Given the description of an element on the screen output the (x, y) to click on. 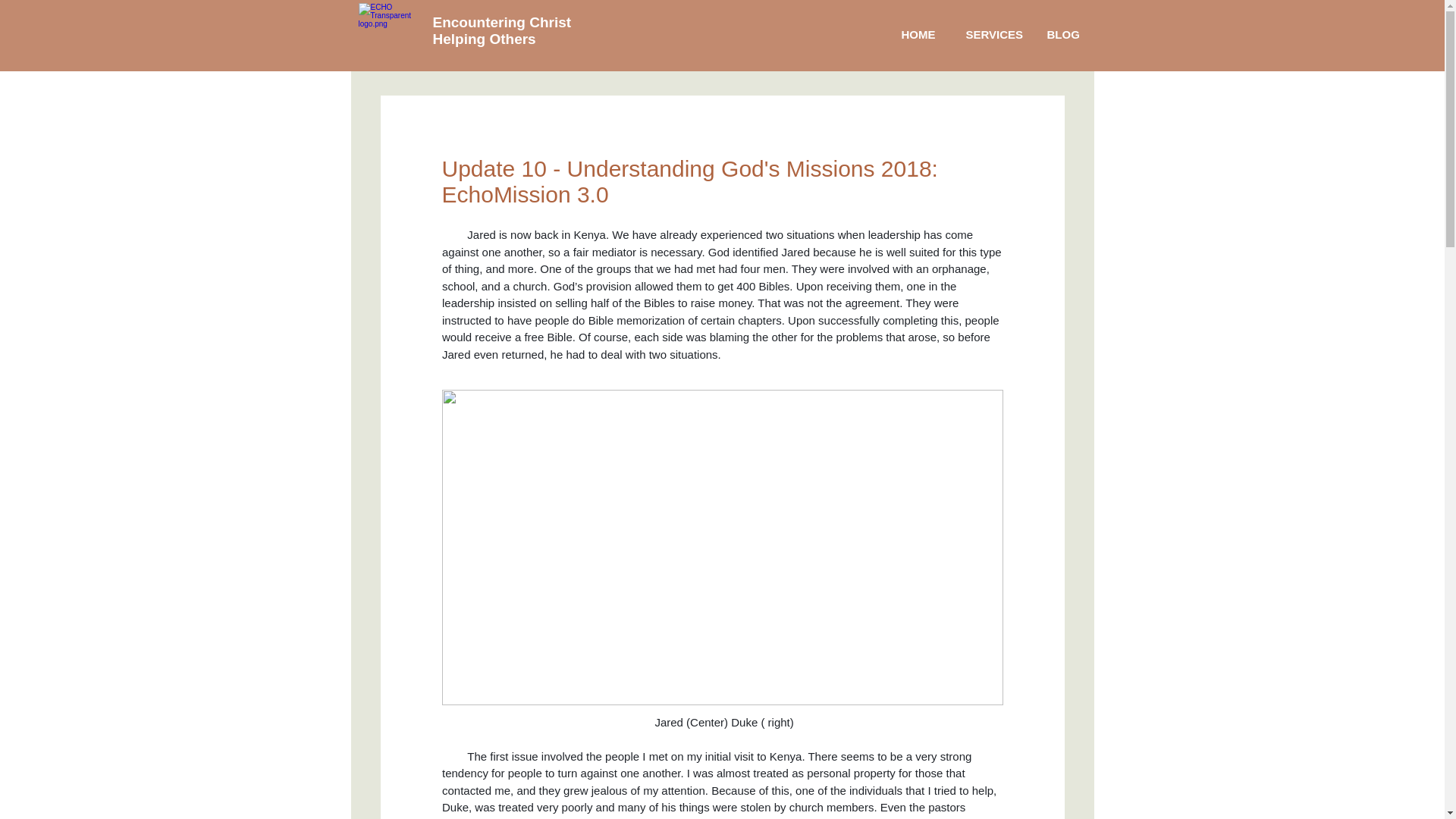
HOME (917, 34)
SERVICES (991, 34)
BLOG (1061, 34)
